Given the description of an element on the screen output the (x, y) to click on. 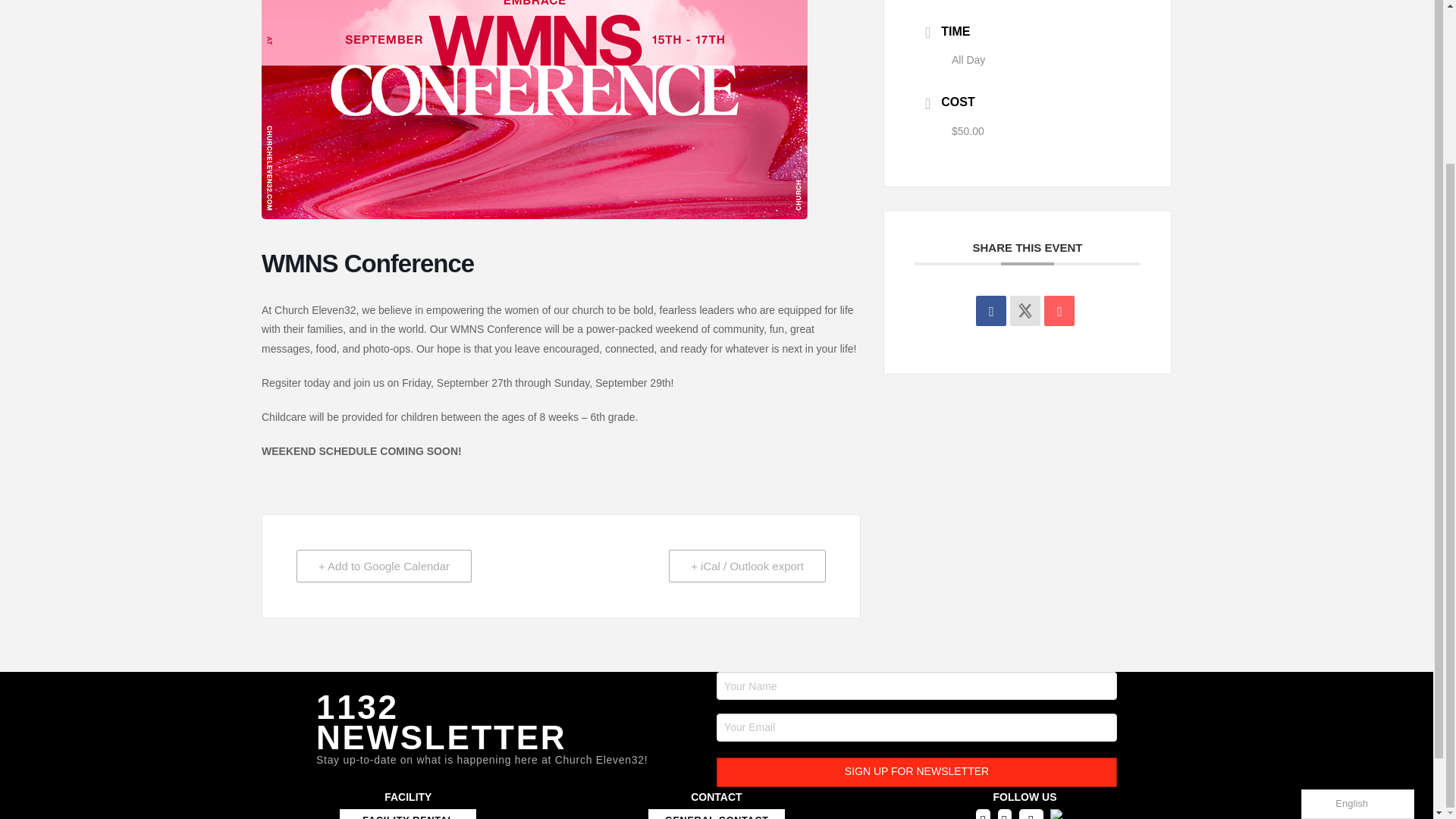
Email (1058, 310)
Sign Up for Newsletter (916, 772)
Sign Up for Newsletter (916, 772)
Share on Facebook (990, 310)
X Social Network (1025, 310)
GENERAL CONTACT (715, 814)
FACILITY RENTAL (407, 814)
